Given the description of an element on the screen output the (x, y) to click on. 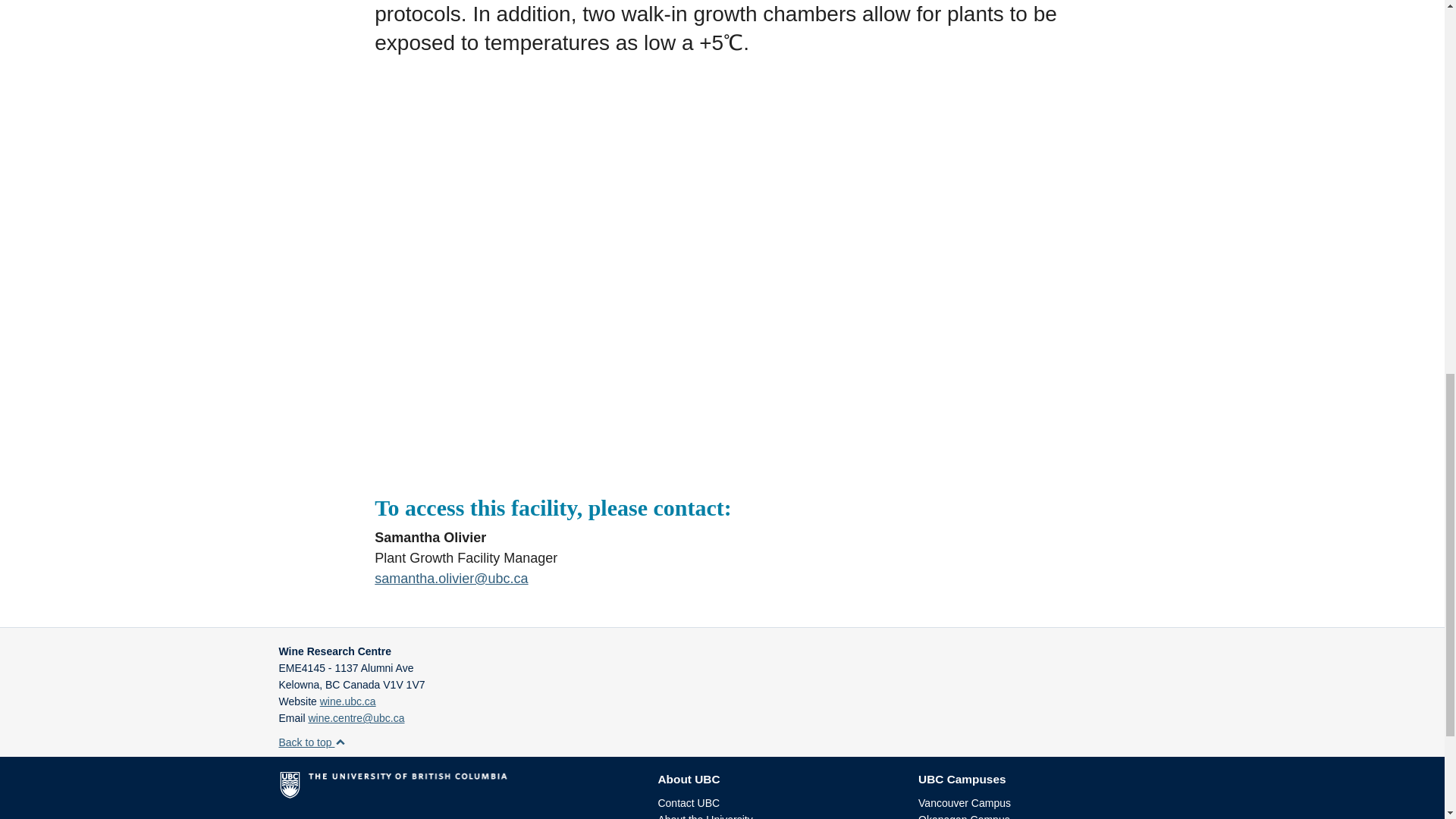
About the University (705, 816)
wine.ubc.ca (347, 701)
Back to top (312, 742)
Contact UBC (688, 802)
The University of British Columbia (456, 790)
Back to top (312, 742)
